Given the description of an element on the screen output the (x, y) to click on. 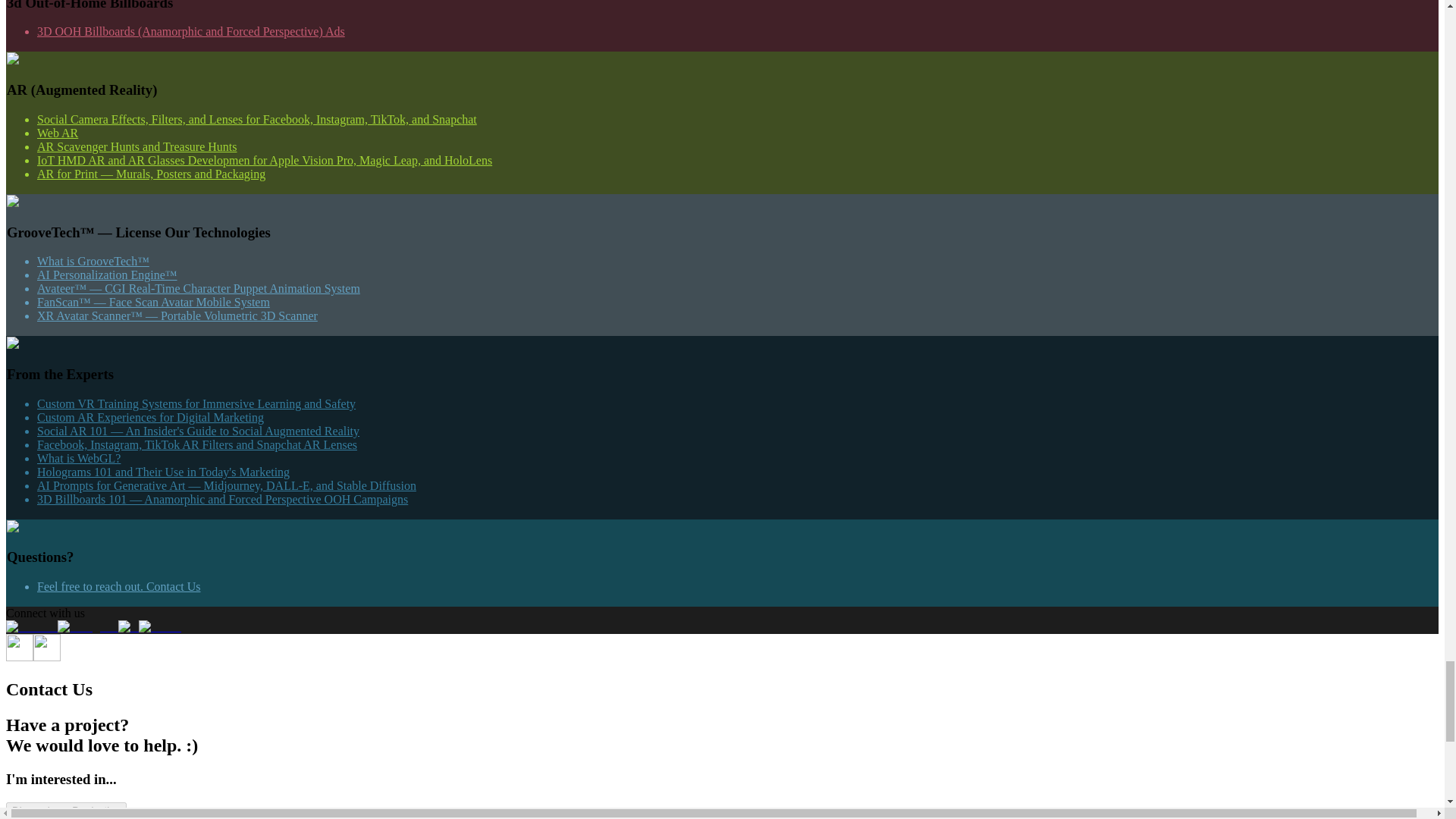
Web AR (57, 132)
Custom VR Training Systems for Immersive Learning and Safety (196, 403)
What is WebGL? (78, 458)
Holograms 101 and Their Use in Today's Marketing (163, 472)
Custom AR Experiences for Digital Marketing (150, 417)
Discussing a Production (65, 810)
